Given the description of an element on the screen output the (x, y) to click on. 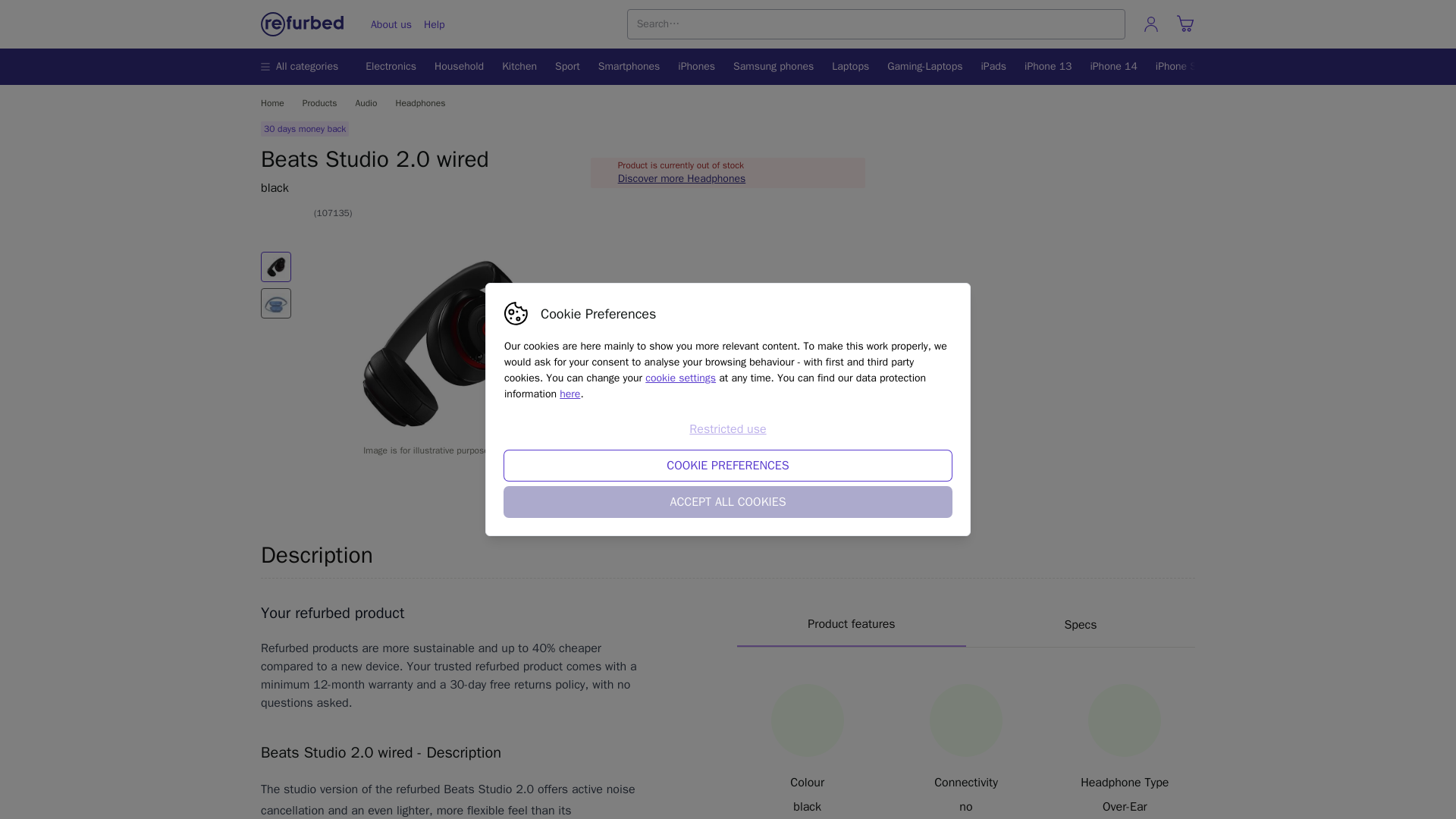
Kitchen (519, 66)
iPhones (695, 66)
iPhone 14 (1112, 66)
iPhone 13 (1047, 66)
Electronics (395, 66)
All categories (966, 624)
Help (303, 66)
Samsung phones (434, 24)
Sport (772, 66)
